Given the description of an element on the screen output the (x, y) to click on. 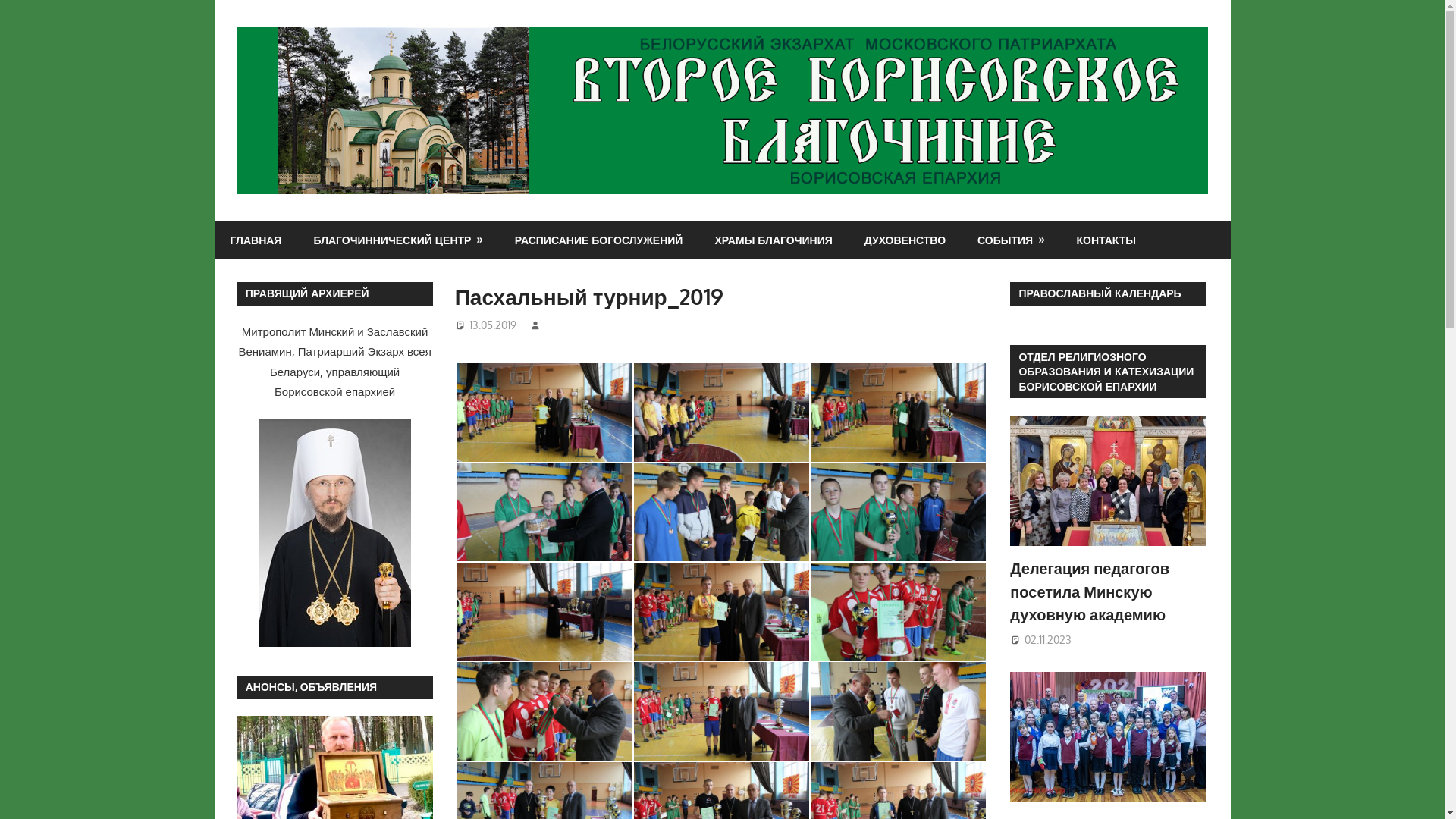
IMG 7296 Element type: hover (897, 511)
IMG 7306 Element type: hover (721, 710)
13.05.2019 Element type: text (492, 324)
IMG 7283 Element type: hover (544, 611)
IMG 7301 Element type: hover (721, 611)
IMG 7305 Element type: hover (897, 710)
02.11.2023 Element type: text (1047, 639)
IMG 7297 Element type: hover (544, 511)
IMG 7310 Element type: hover (897, 611)
IMG 7291 Element type: hover (544, 412)
IMG 7292 Element type: hover (721, 511)
IMG 7287 Element type: hover (721, 412)
IMG 7307 Element type: hover (544, 710)
IMG 7294 Element type: hover (897, 412)
